Given the description of an element on the screen output the (x, y) to click on. 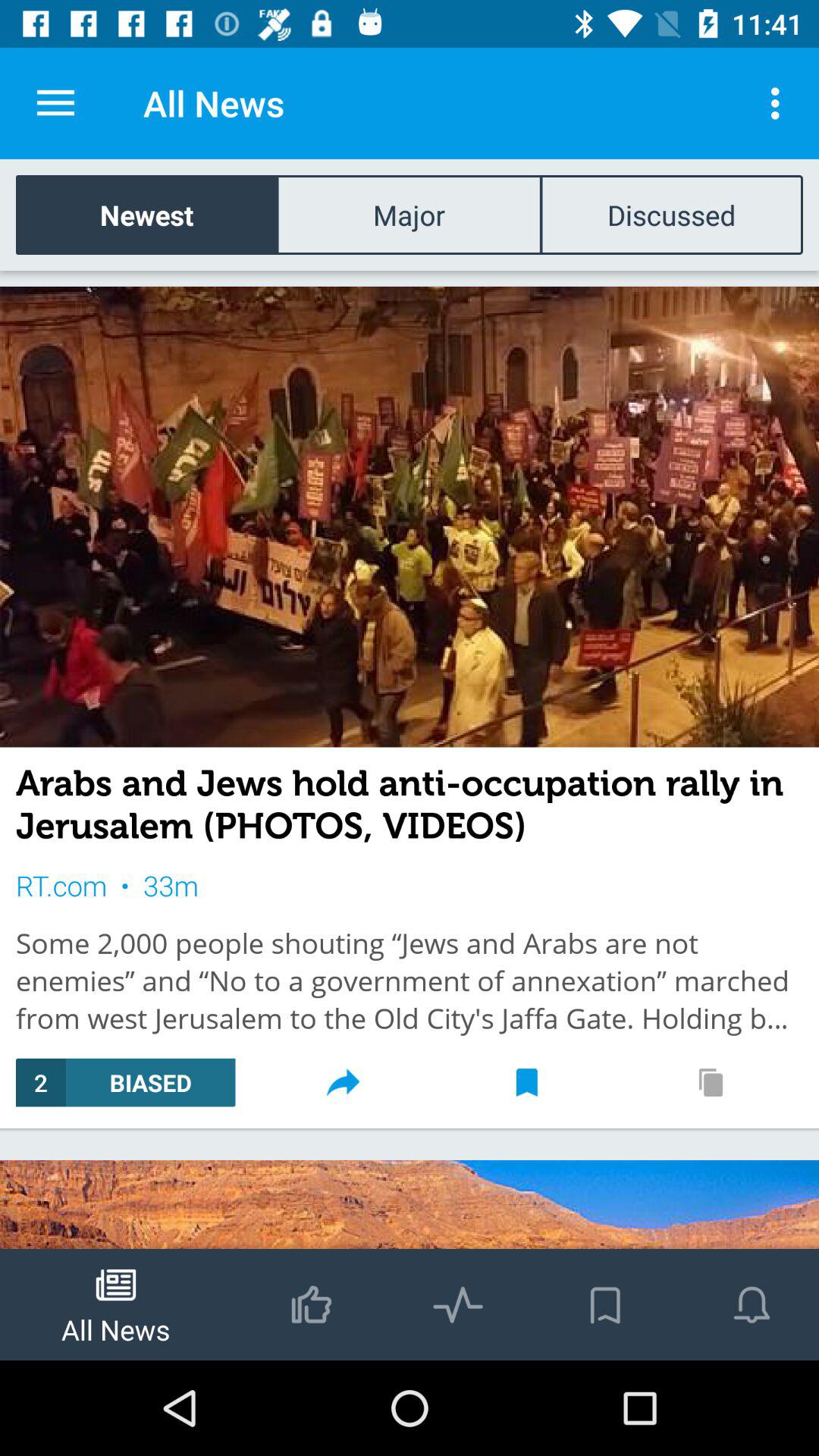
jump until the discussed icon (671, 214)
